Given the description of an element on the screen output the (x, y) to click on. 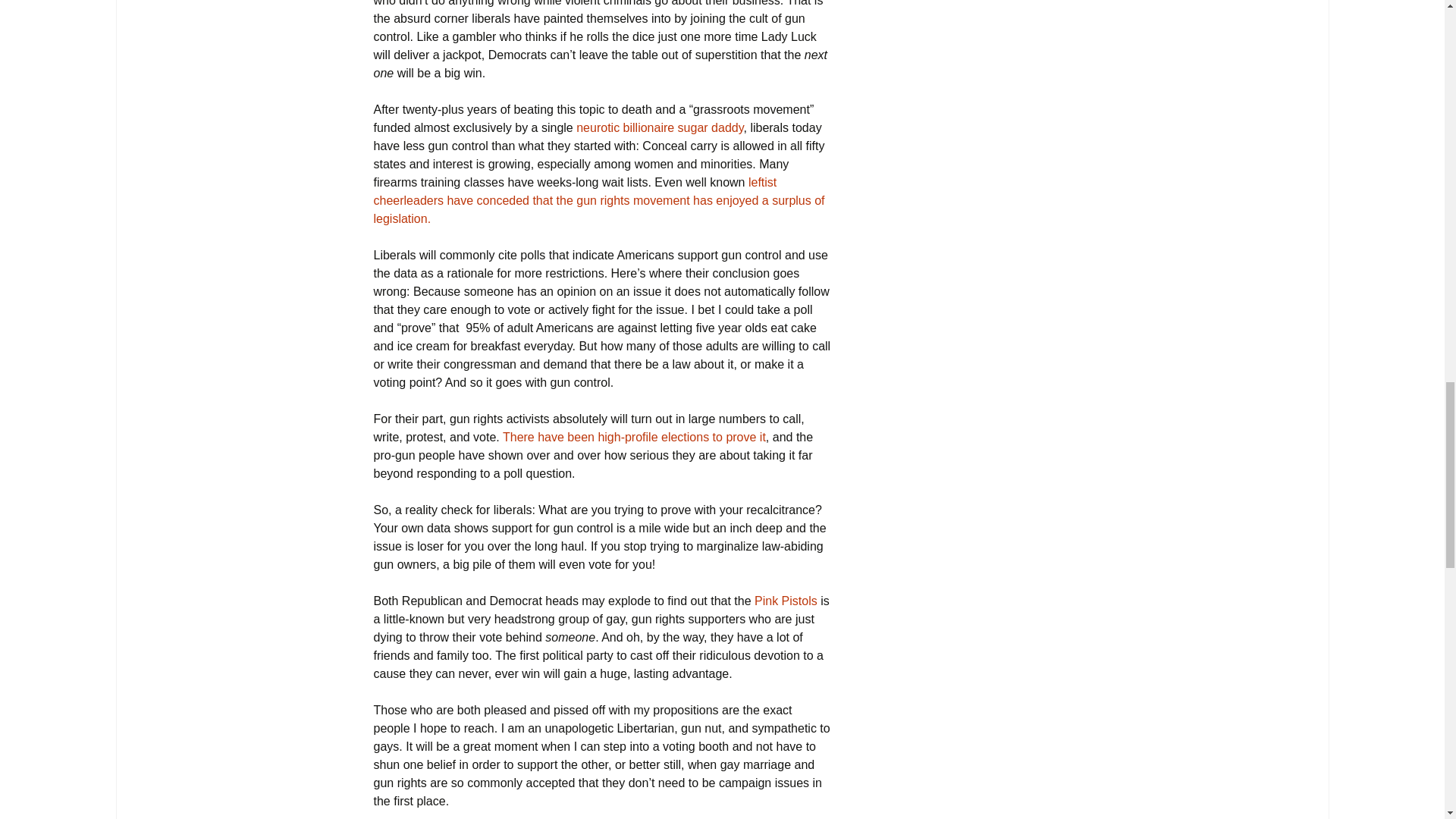
There have been high-profile elections to prove it (633, 436)
Pink Pistols (787, 600)
neurotic billionaire sugar daddy (659, 127)
